Given the description of an element on the screen output the (x, y) to click on. 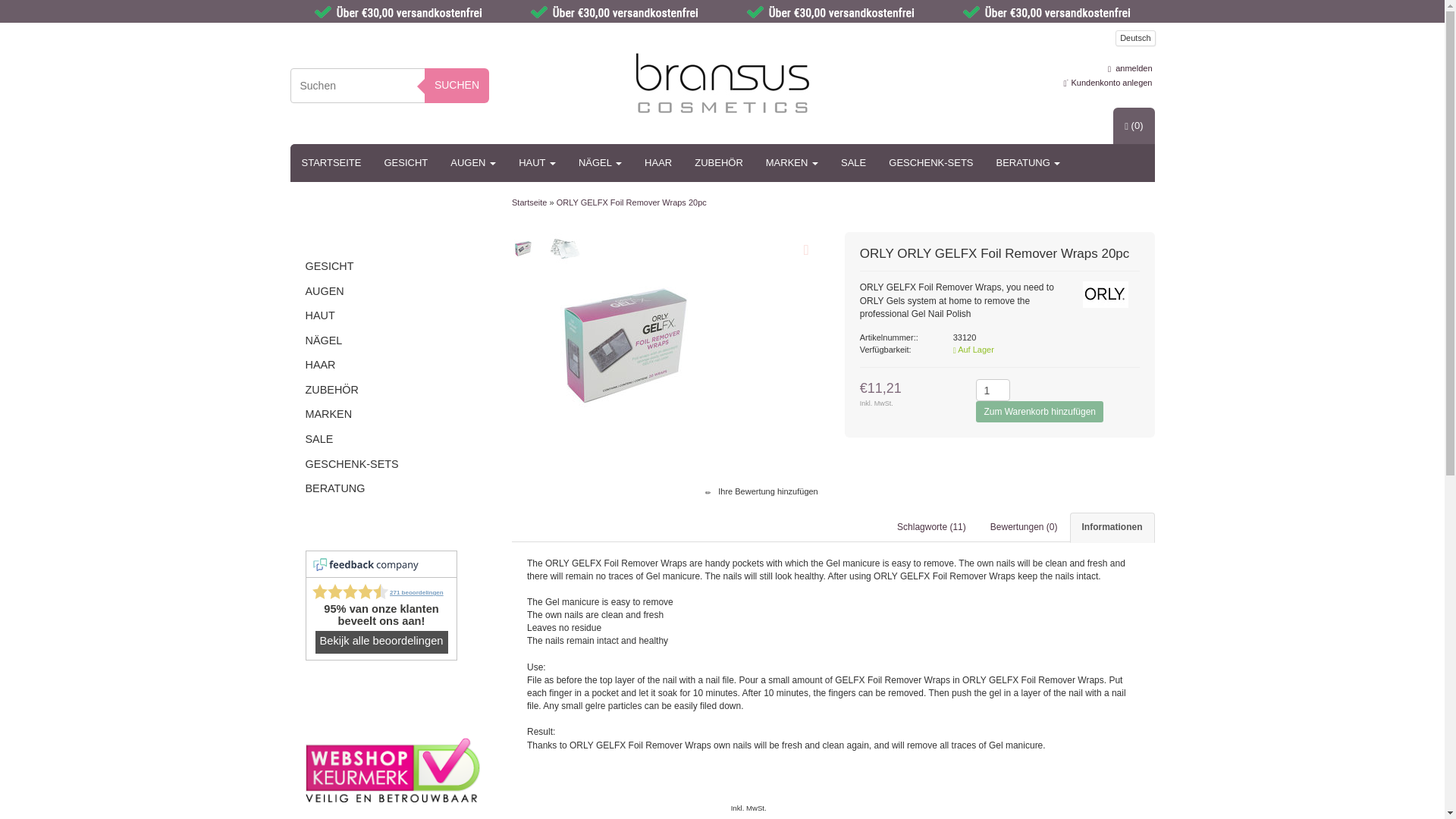
1 (992, 390)
Mein Konto (1128, 67)
SUCHEN (457, 85)
STARTSEITE (330, 162)
Kundenkonto anlegen (1108, 81)
Deutsch (1134, 37)
AUGEN (472, 162)
HAUT (536, 162)
GESICHT (405, 162)
Kundenkonto anlegen (1108, 81)
